Given the description of an element on the screen output the (x, y) to click on. 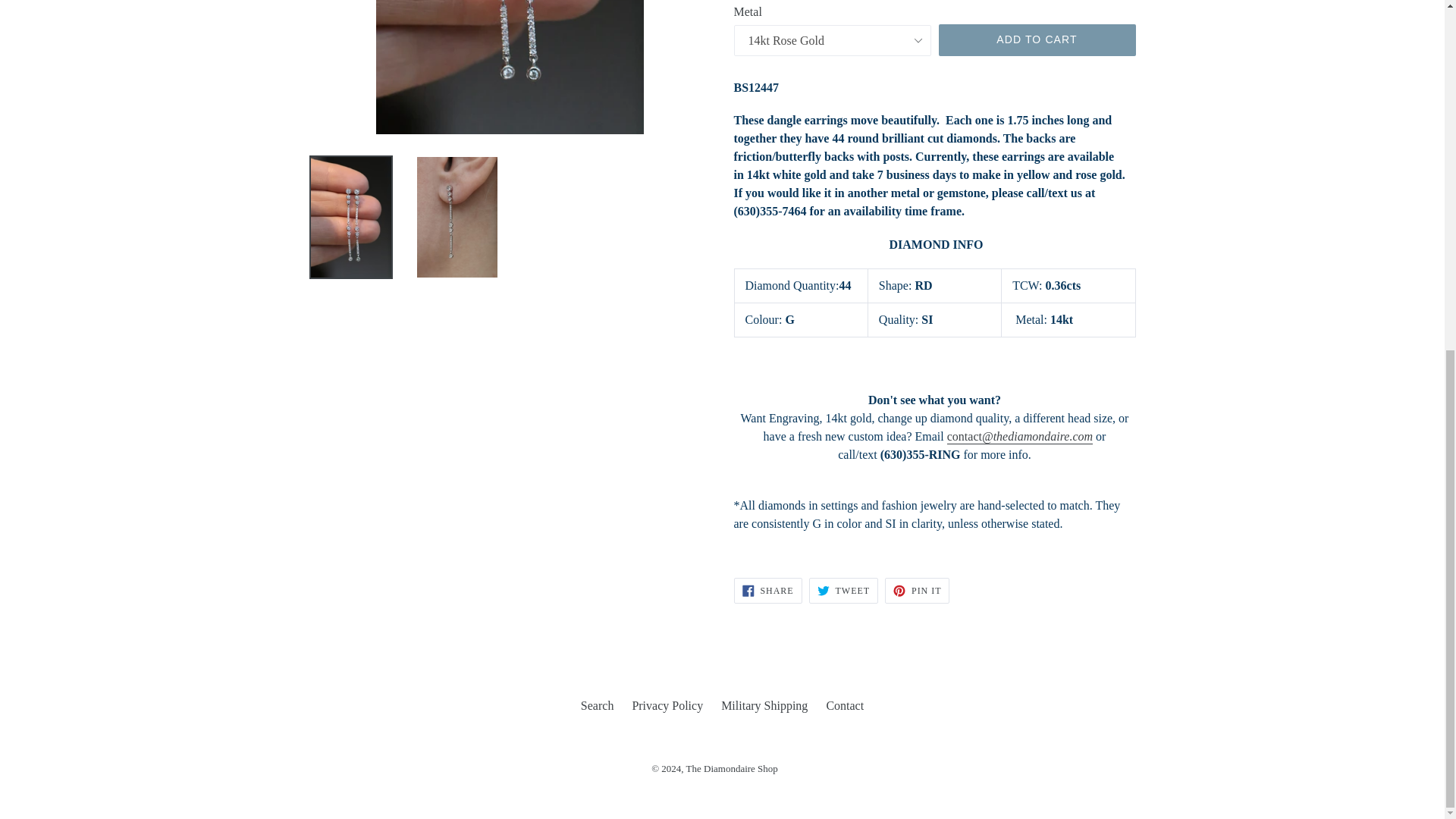
Share on Facebook (767, 590)
Pin on Pinterest (917, 590)
Email Contact (1020, 436)
Tweet on Twitter (843, 590)
